Given the description of an element on the screen output the (x, y) to click on. 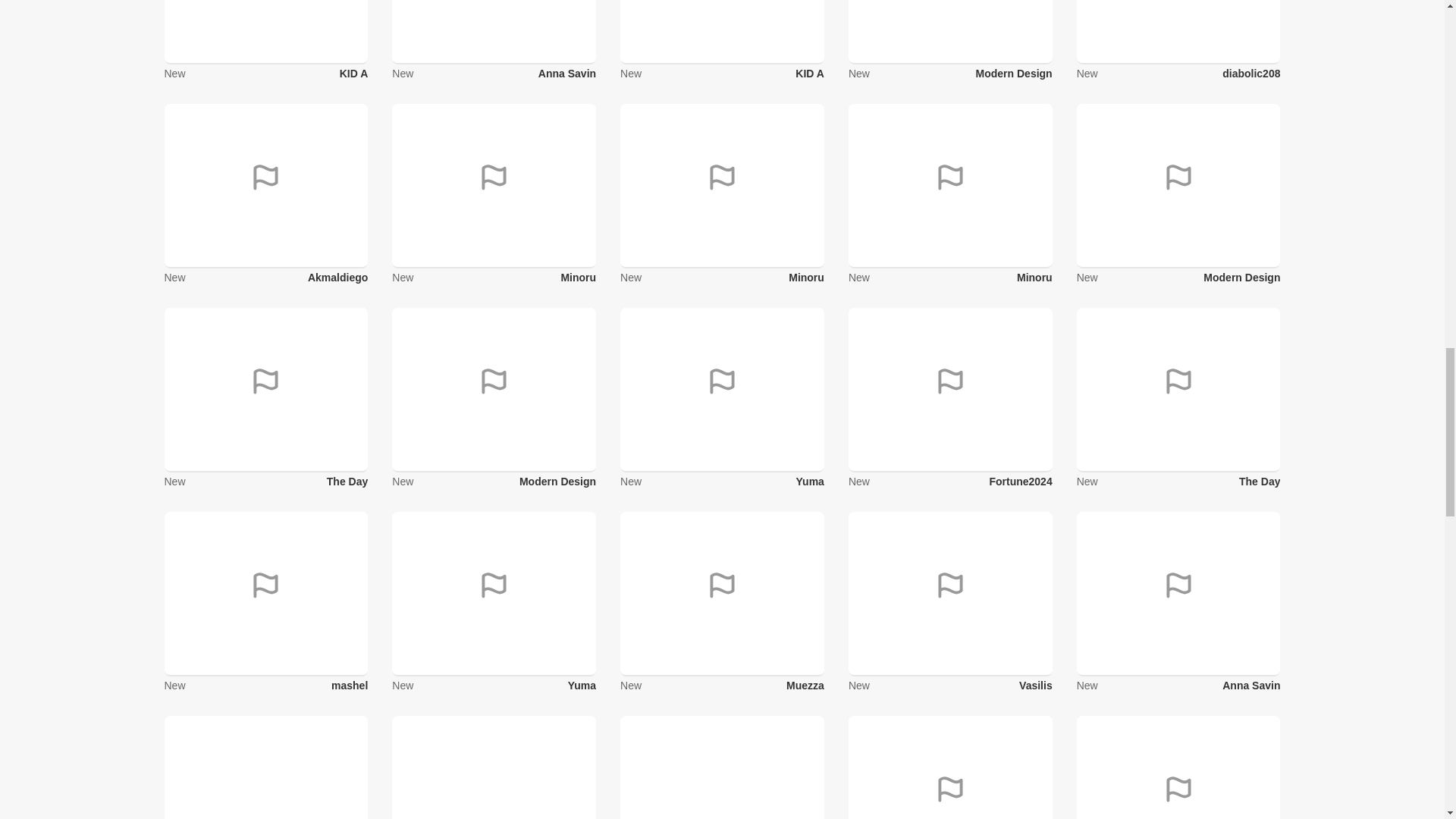
KID A (353, 73)
